Given the description of an element on the screen output the (x, y) to click on. 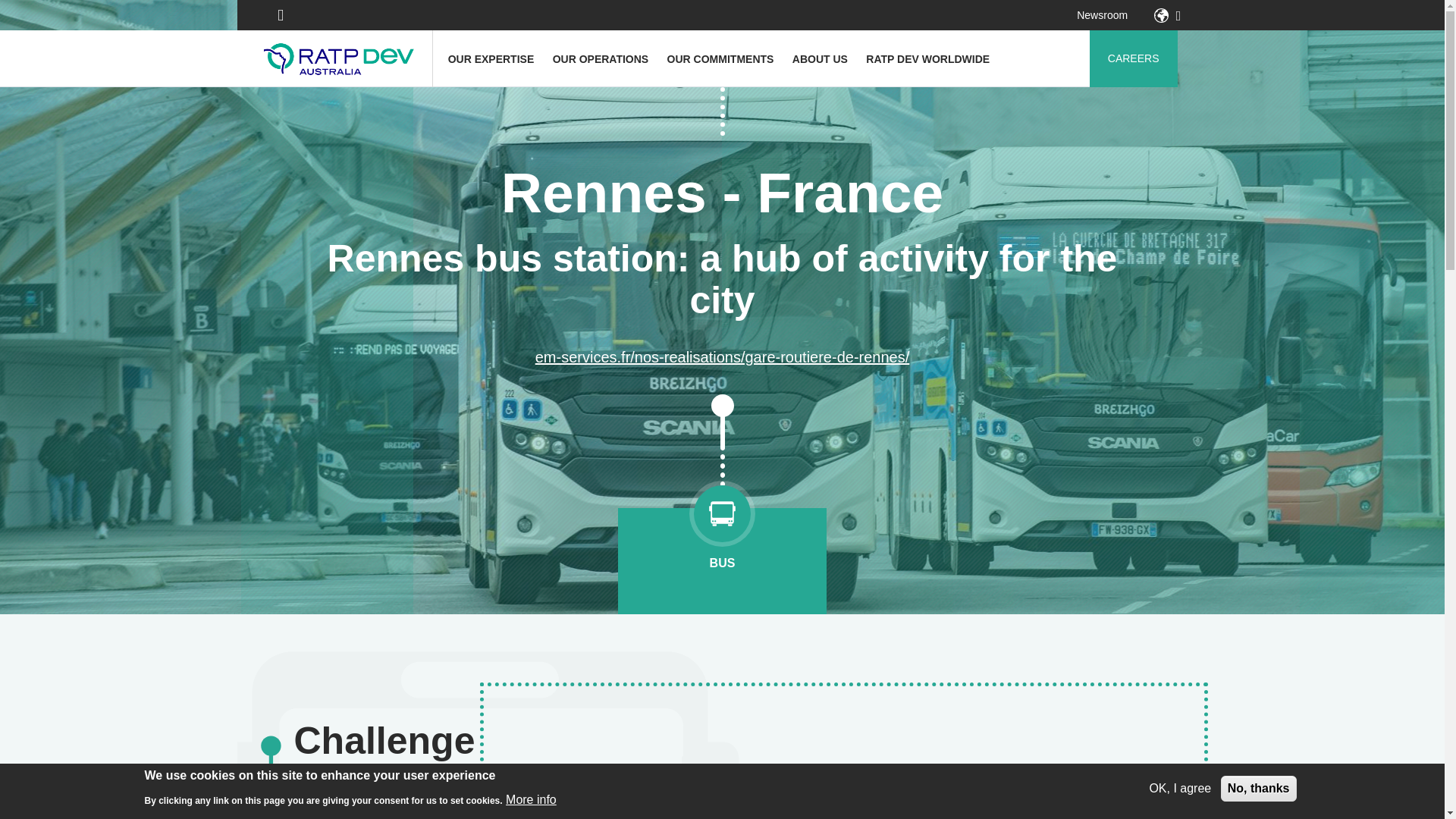
OUR EXPERTISE (491, 59)
CAREERS (1133, 58)
OUR COMMITMENTS (720, 59)
More info (530, 799)
RATP DEV WORLDWIDE (928, 59)
OK, I agree (1179, 788)
Newsroom (1101, 15)
OUR EXPERTISE (491, 59)
ABOUT US (820, 59)
Bus (722, 528)
ABOUT US (820, 59)
OUR OPERATIONS (600, 59)
OUR COMMITMENTS (720, 59)
OUR OPERATIONS (600, 59)
